Given the description of an element on the screen output the (x, y) to click on. 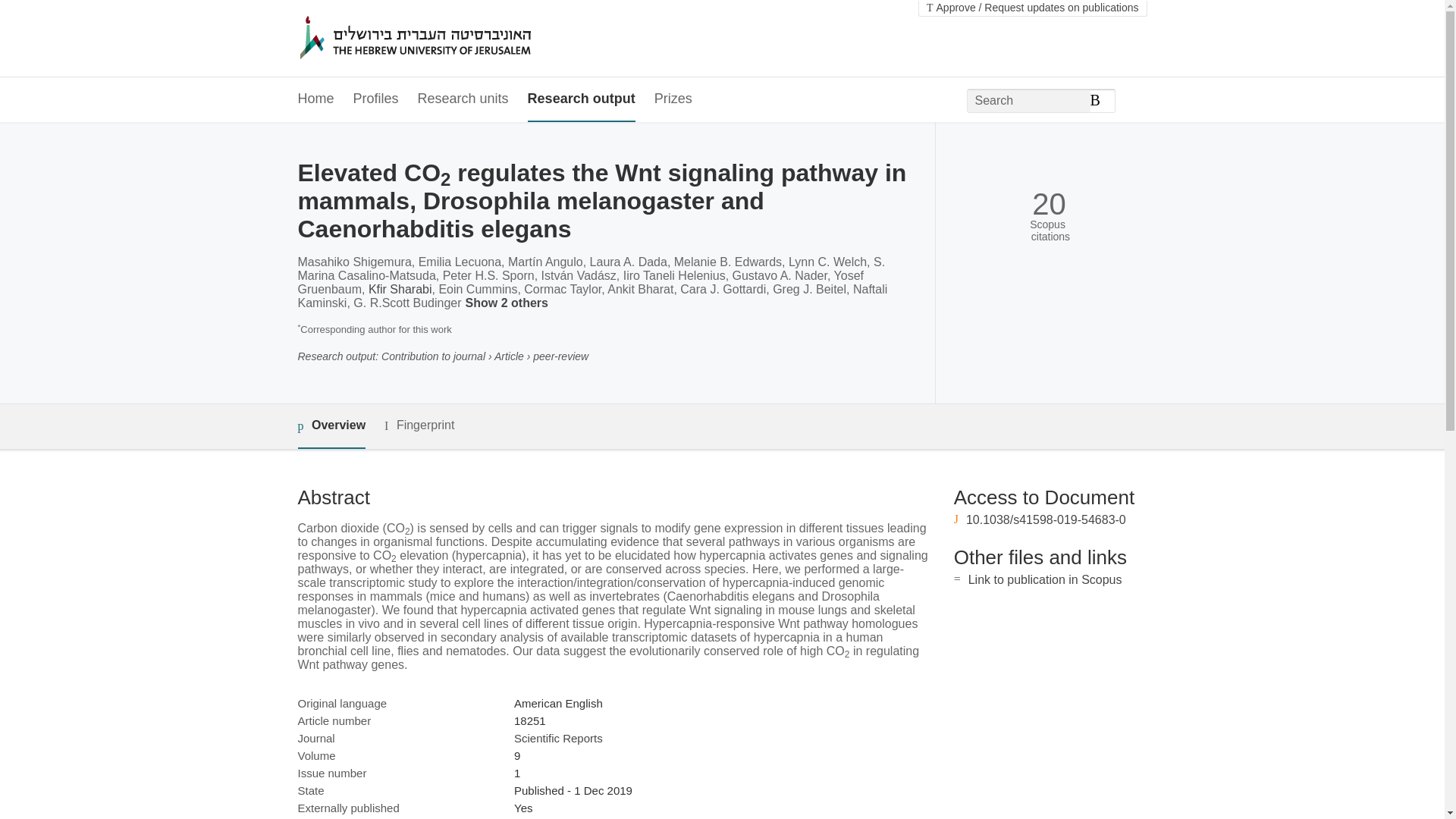
Overview (331, 426)
Research output (580, 99)
Scientific Reports (557, 738)
Kfir Sharabi (400, 288)
Show 2 others (509, 304)
Fingerprint (419, 425)
The Hebrew University of Jerusalem Home (447, 38)
Profiles (375, 99)
Link to publication in Scopus (1045, 579)
